Given the description of an element on the screen output the (x, y) to click on. 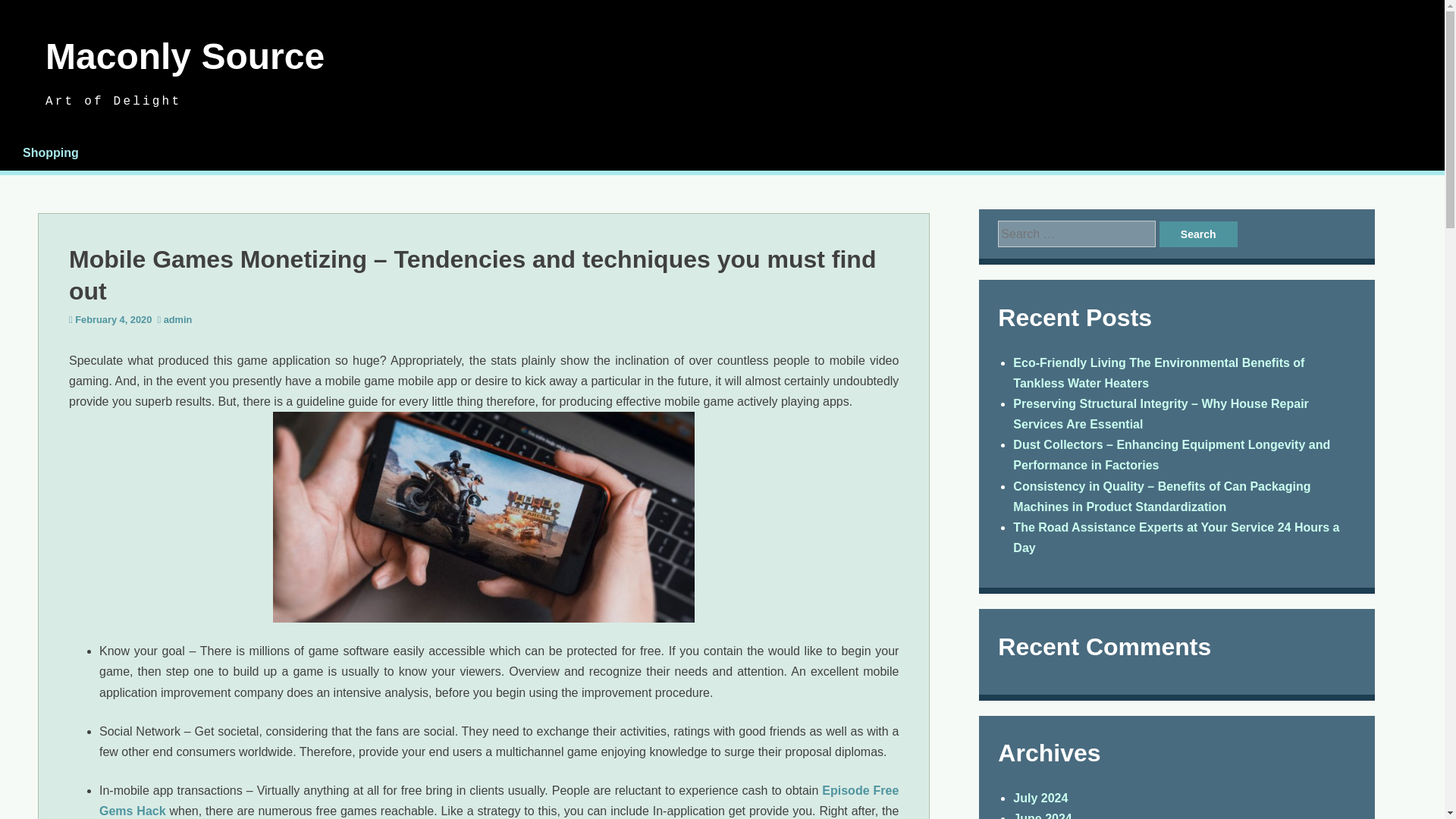
Shopping (50, 152)
Maconly Source (184, 56)
admin (177, 319)
July 2024 (1040, 797)
Episode Free Gems Hack (498, 800)
February 4, 2020 (113, 319)
The Road Assistance Experts at Your Service 24 Hours a Day (1176, 537)
June 2024 (1042, 815)
Search (1197, 234)
Search (1197, 234)
